Given the description of an element on the screen output the (x, y) to click on. 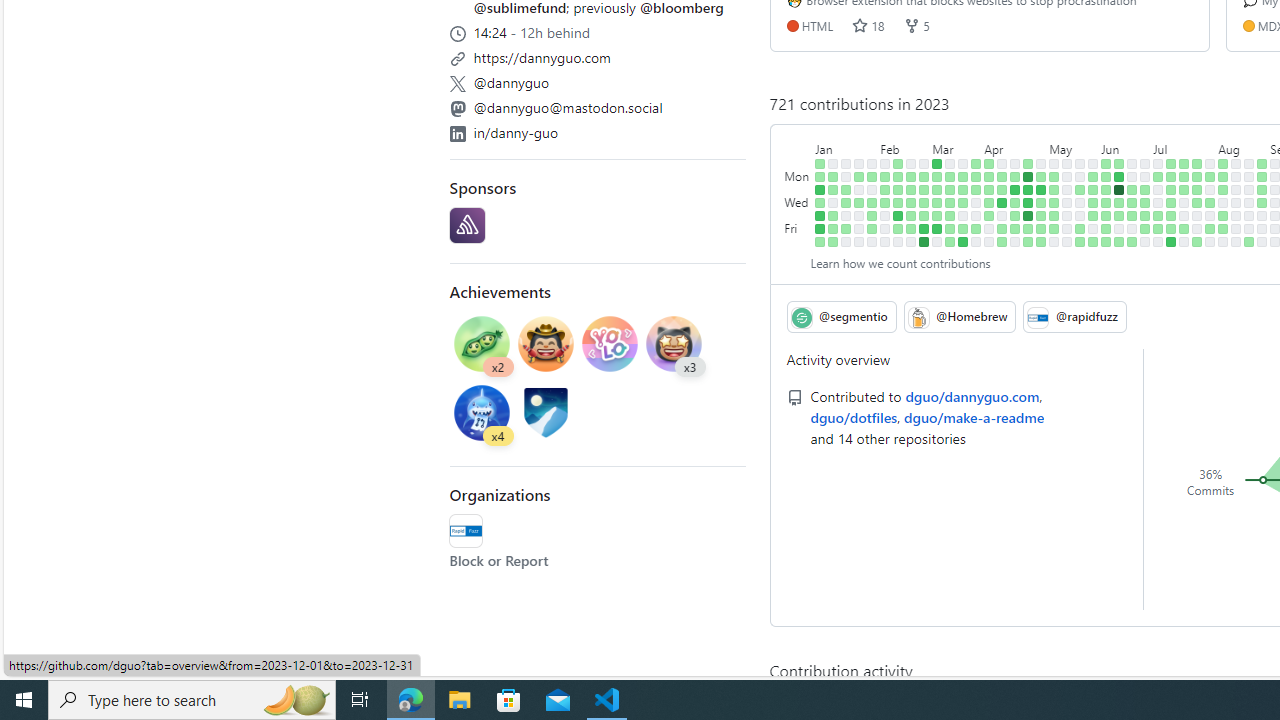
@dannyguo (511, 82)
No contributions on August 25th. (1249, 228)
14 contributions on January 5th. (820, 215)
Day of Week (797, 145)
No contributions on January 21st. (846, 241)
3 contributions on June 8th. (1106, 215)
stars 18 (868, 25)
No contributions on January 27th. (859, 228)
1 contribution on March 8th. (937, 202)
No contributions on May 18th. (1067, 215)
@dannyguo@mastodon.social (597, 105)
4 contributions on April 4th. (989, 189)
April (1015, 145)
5 contributions on June 1st. (1093, 215)
No contributions on August 19th. (1236, 241)
